Given the description of an element on the screen output the (x, y) to click on. 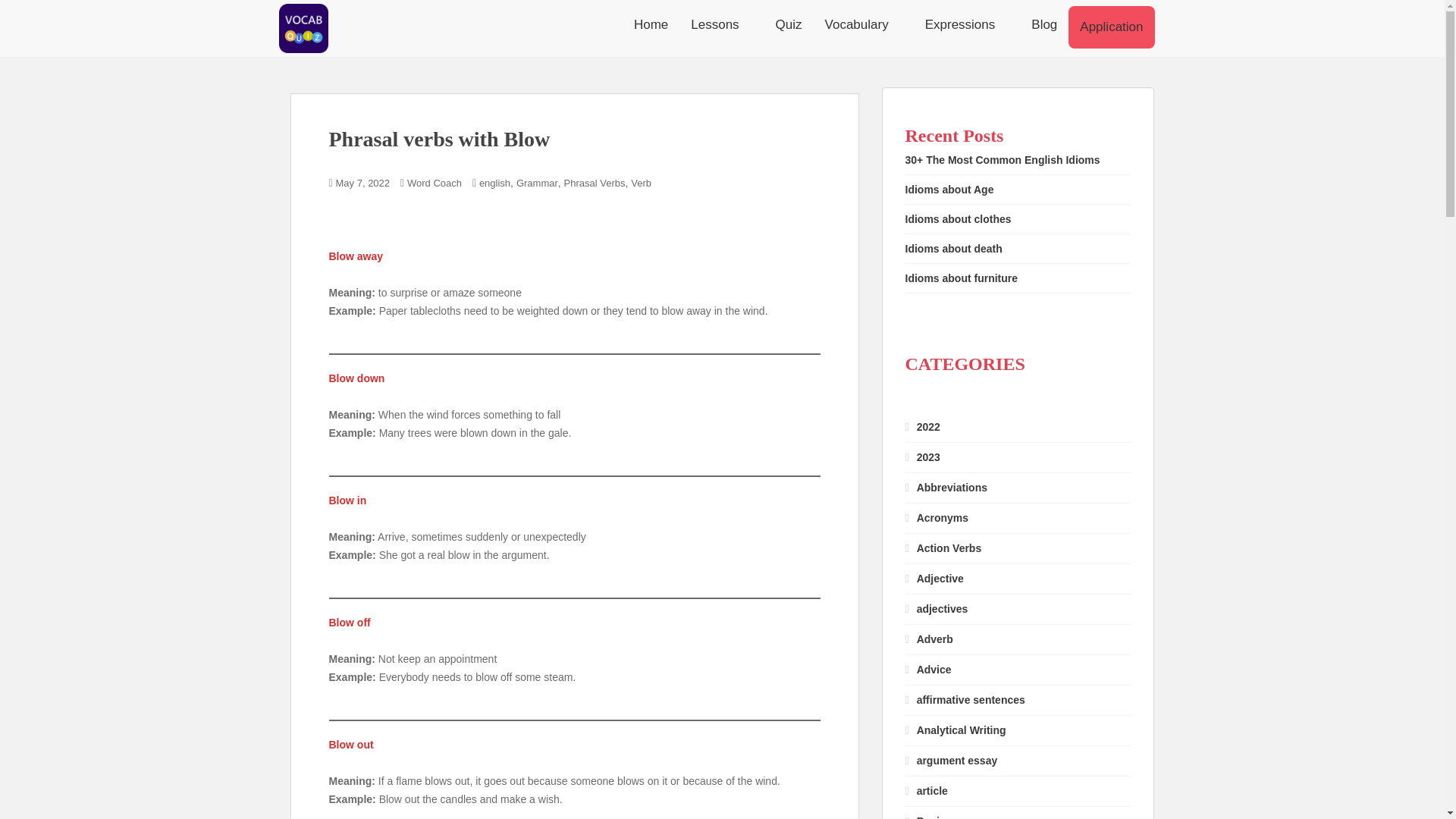
english (495, 183)
Application (1111, 26)
Verb (640, 183)
Lessons (714, 25)
Vocabulary (856, 25)
Blog (1043, 25)
Quiz (789, 25)
Home (650, 25)
May 7, 2022 (363, 183)
Expressions (959, 25)
Grammar (536, 183)
Phrasal Verbs (595, 183)
Word Coach (434, 183)
